Given the description of an element on the screen output the (x, y) to click on. 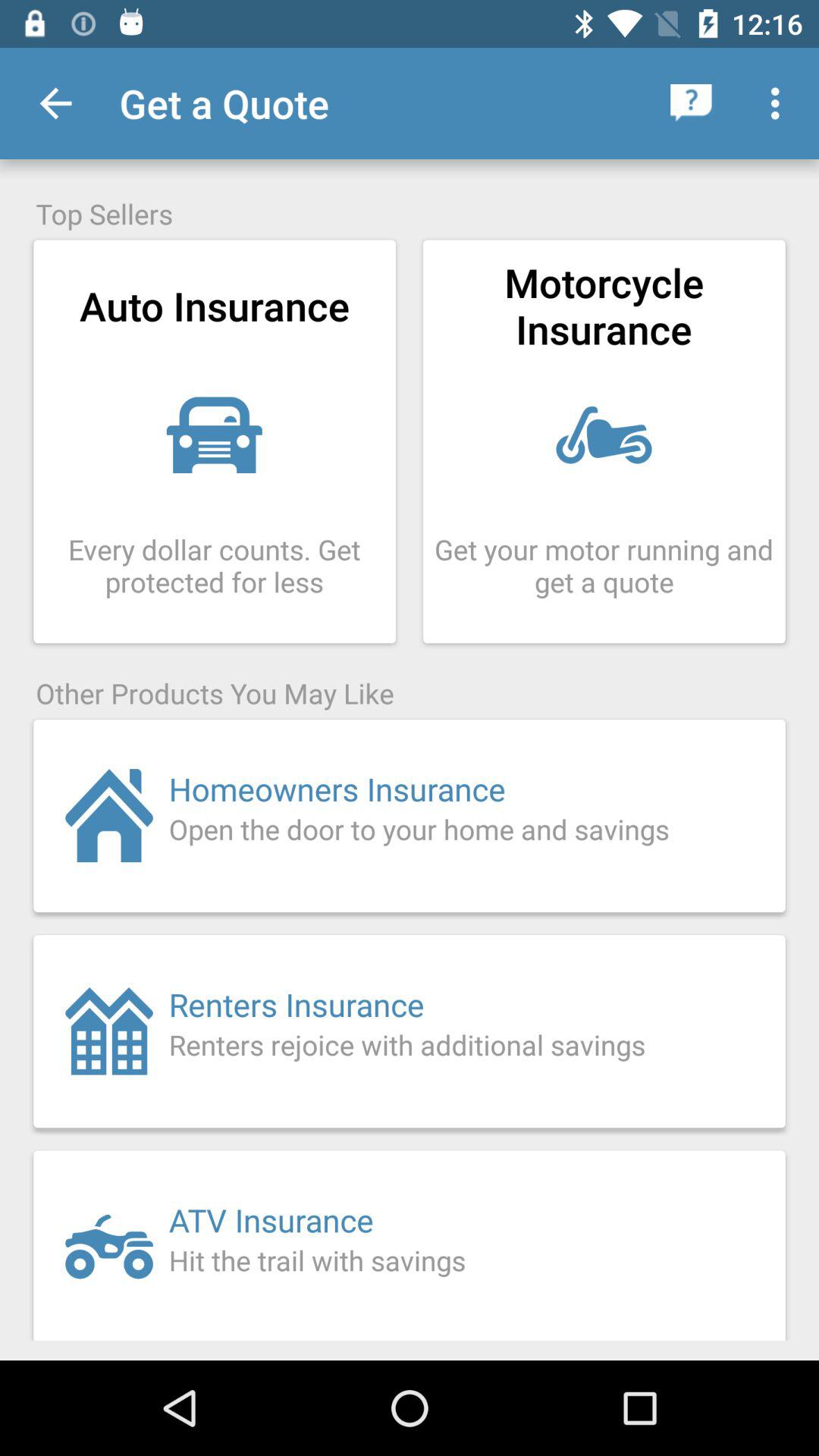
select item above the top sellers icon (779, 103)
